Given the description of an element on the screen output the (x, y) to click on. 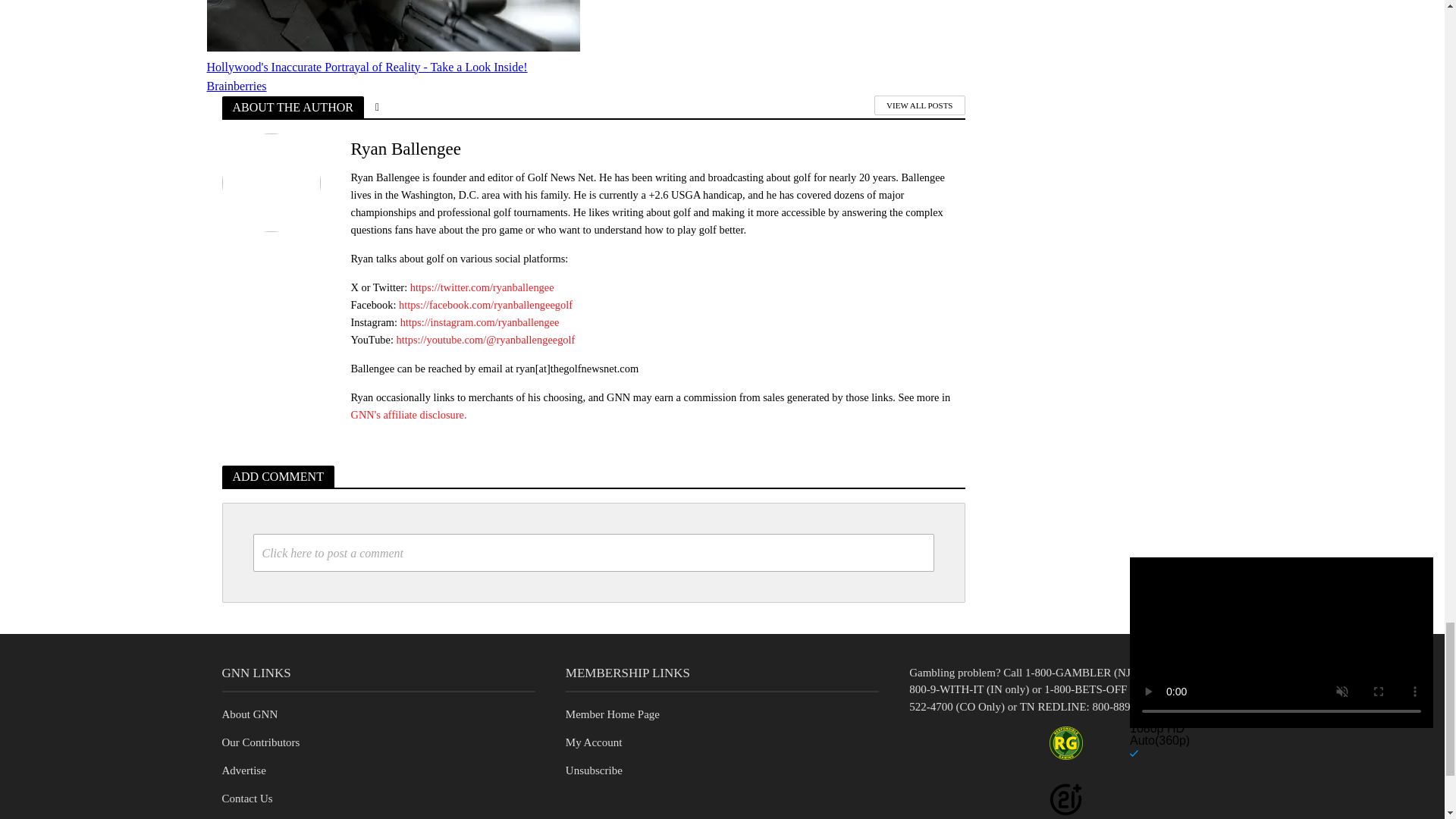
Contact Page (246, 798)
About Page (249, 714)
Advertising Info (242, 770)
Contributors List (260, 742)
